Given the description of an element on the screen output the (x, y) to click on. 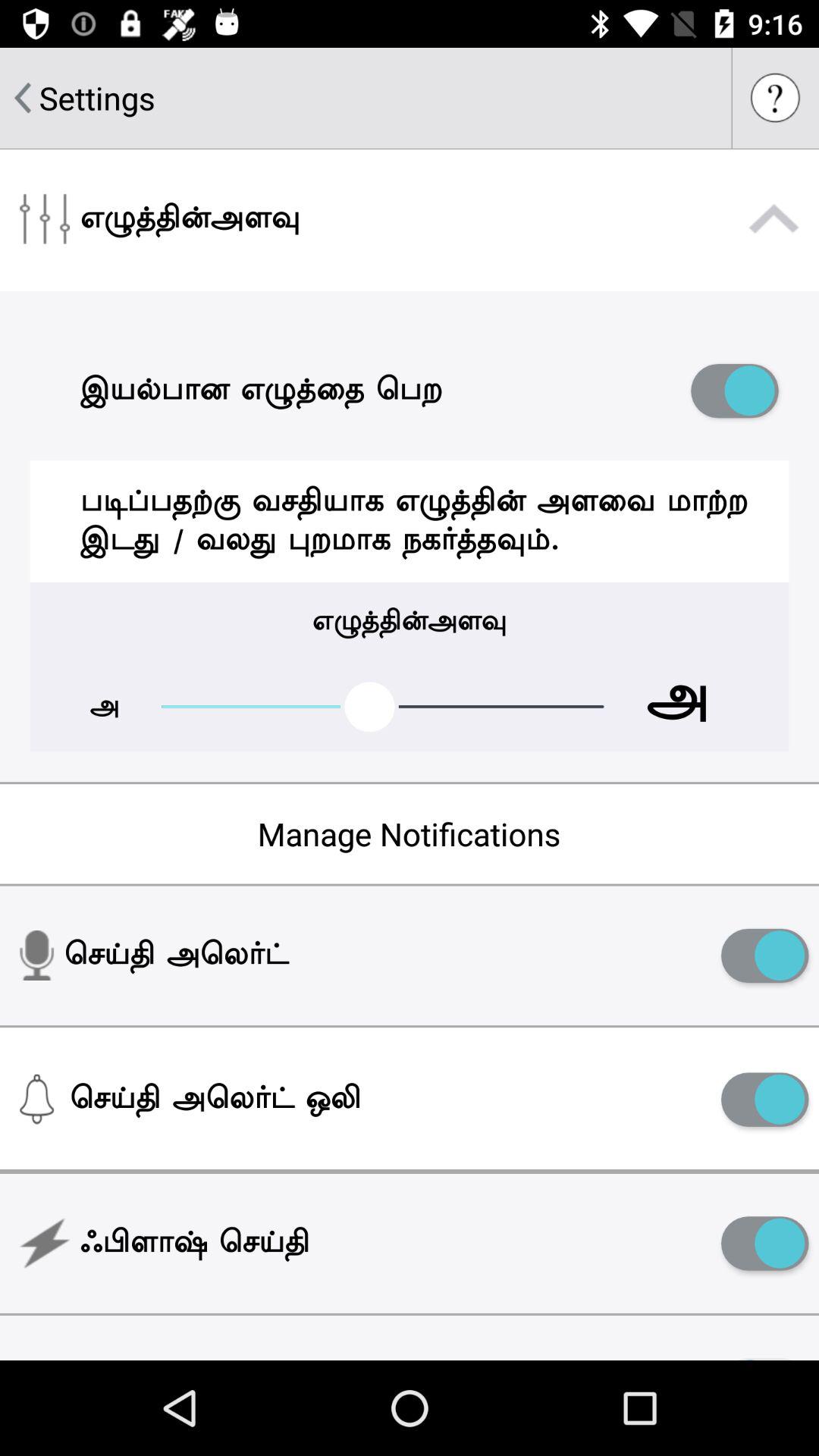
open help interface (775, 97)
